Given the description of an element on the screen output the (x, y) to click on. 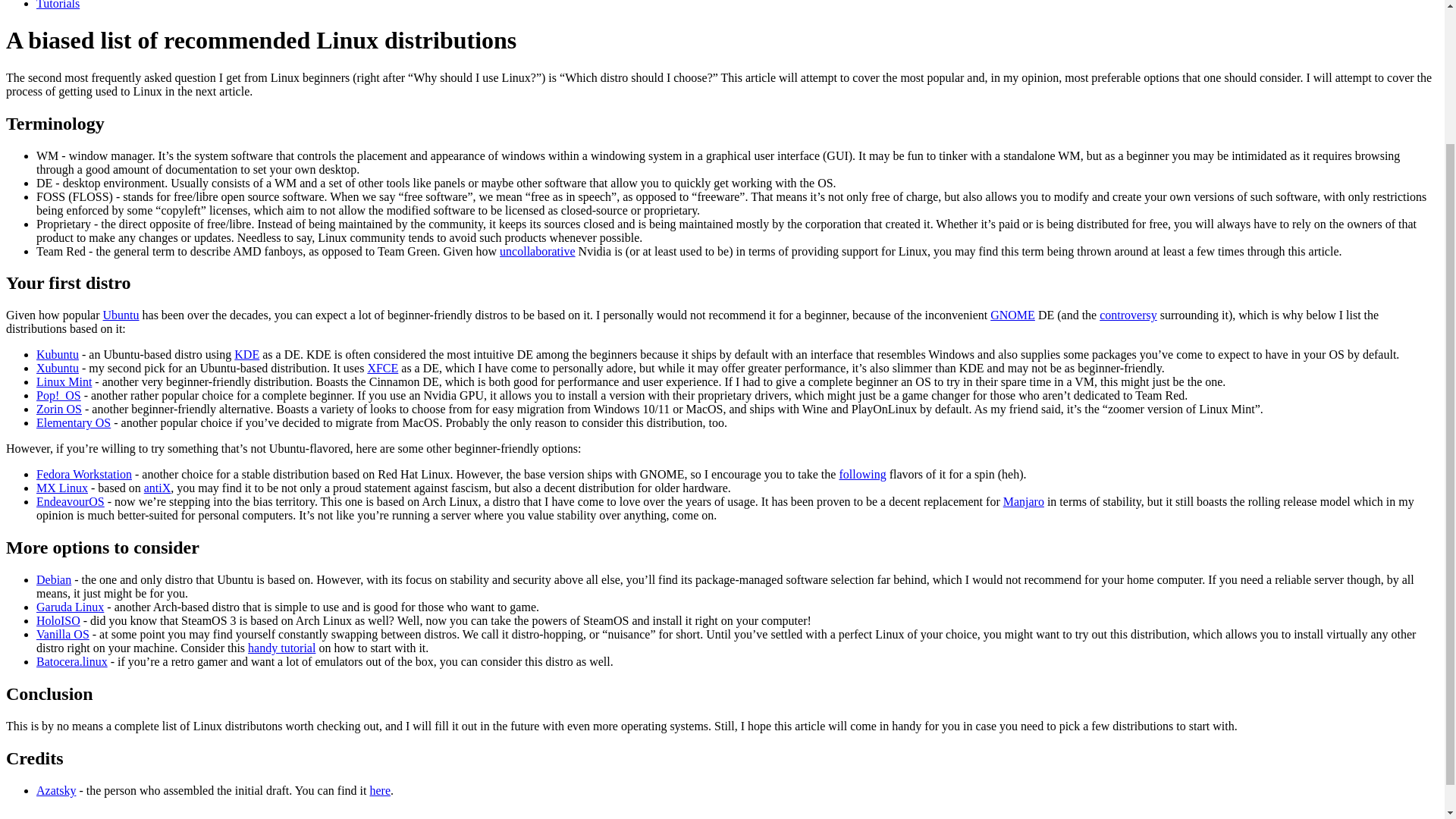
Tutorials (58, 4)
Batocera.linux (71, 661)
KDE (246, 354)
Ubuntu (121, 314)
Linux Mint (63, 381)
MX Linux (61, 487)
EndeavourOS (70, 501)
Elementary OS (73, 422)
Manjaro (1023, 501)
uncollaborative (537, 250)
